Given the description of an element on the screen output the (x, y) to click on. 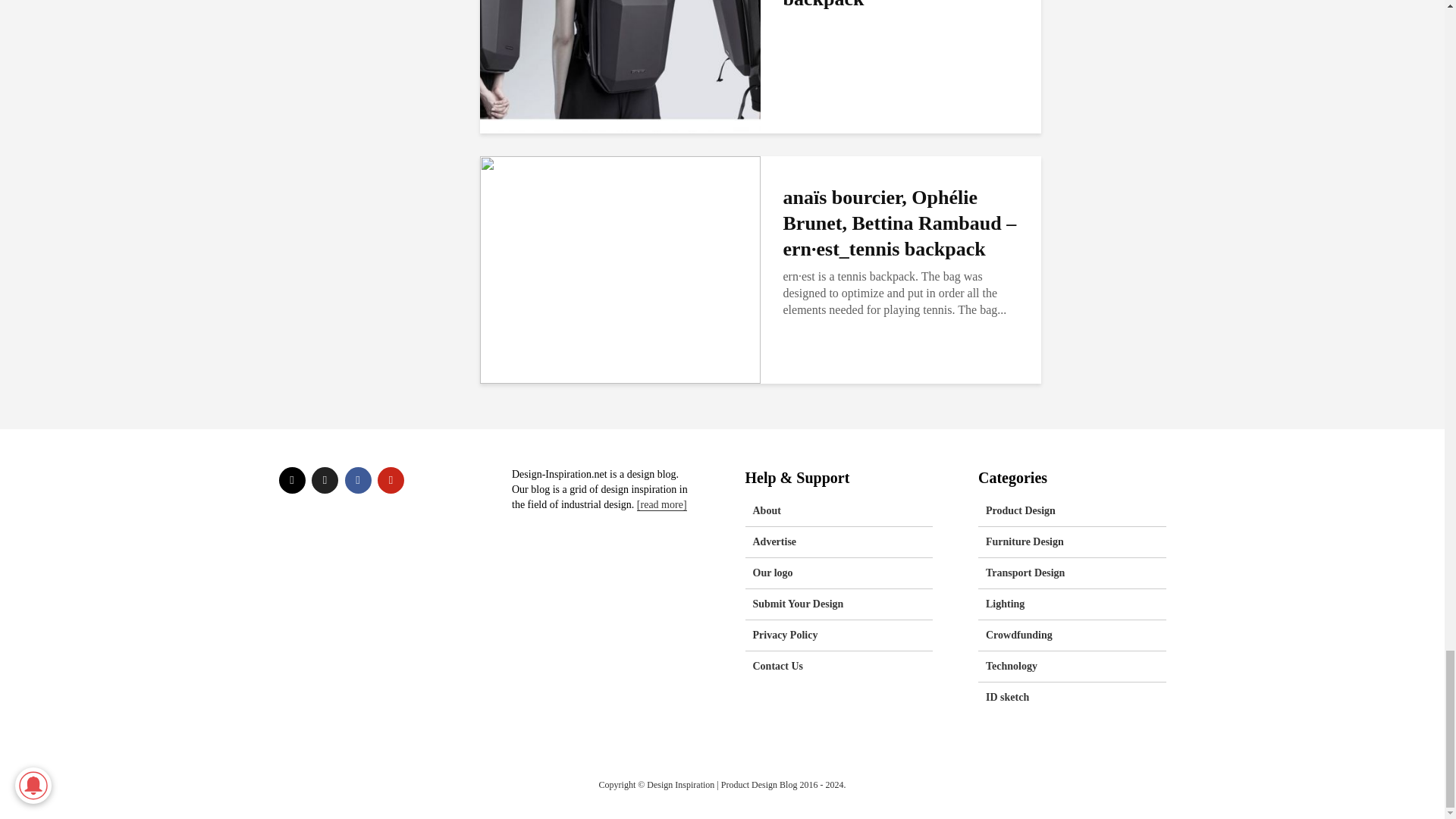
Pinterest (390, 479)
Facebook (357, 479)
Instagram (292, 479)
